Given the description of an element on the screen output the (x, y) to click on. 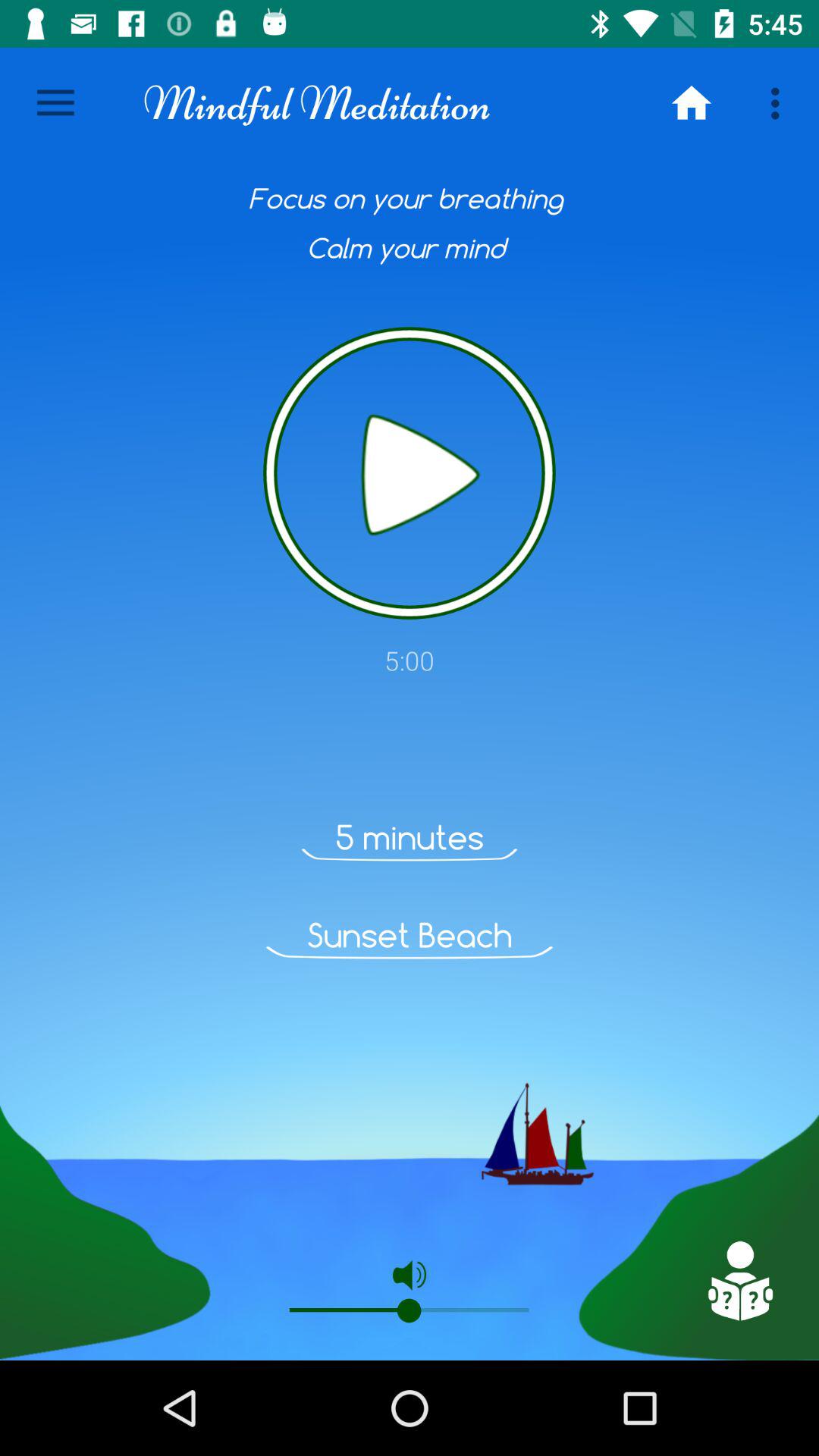
turn off the item at the bottom right corner (739, 1280)
